Given the description of an element on the screen output the (x, y) to click on. 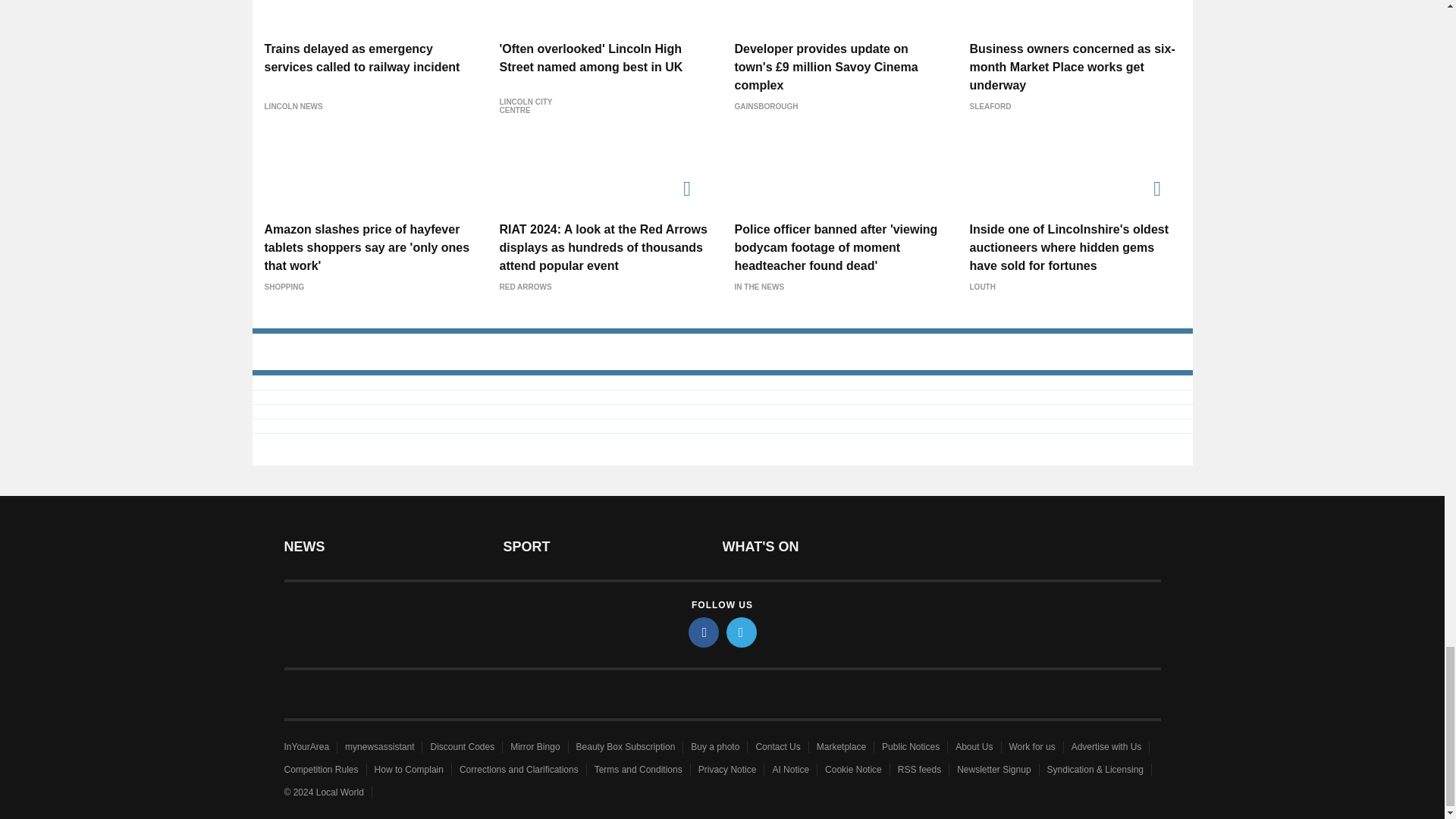
facebook (703, 632)
twitter (741, 632)
